Given the description of an element on the screen output the (x, y) to click on. 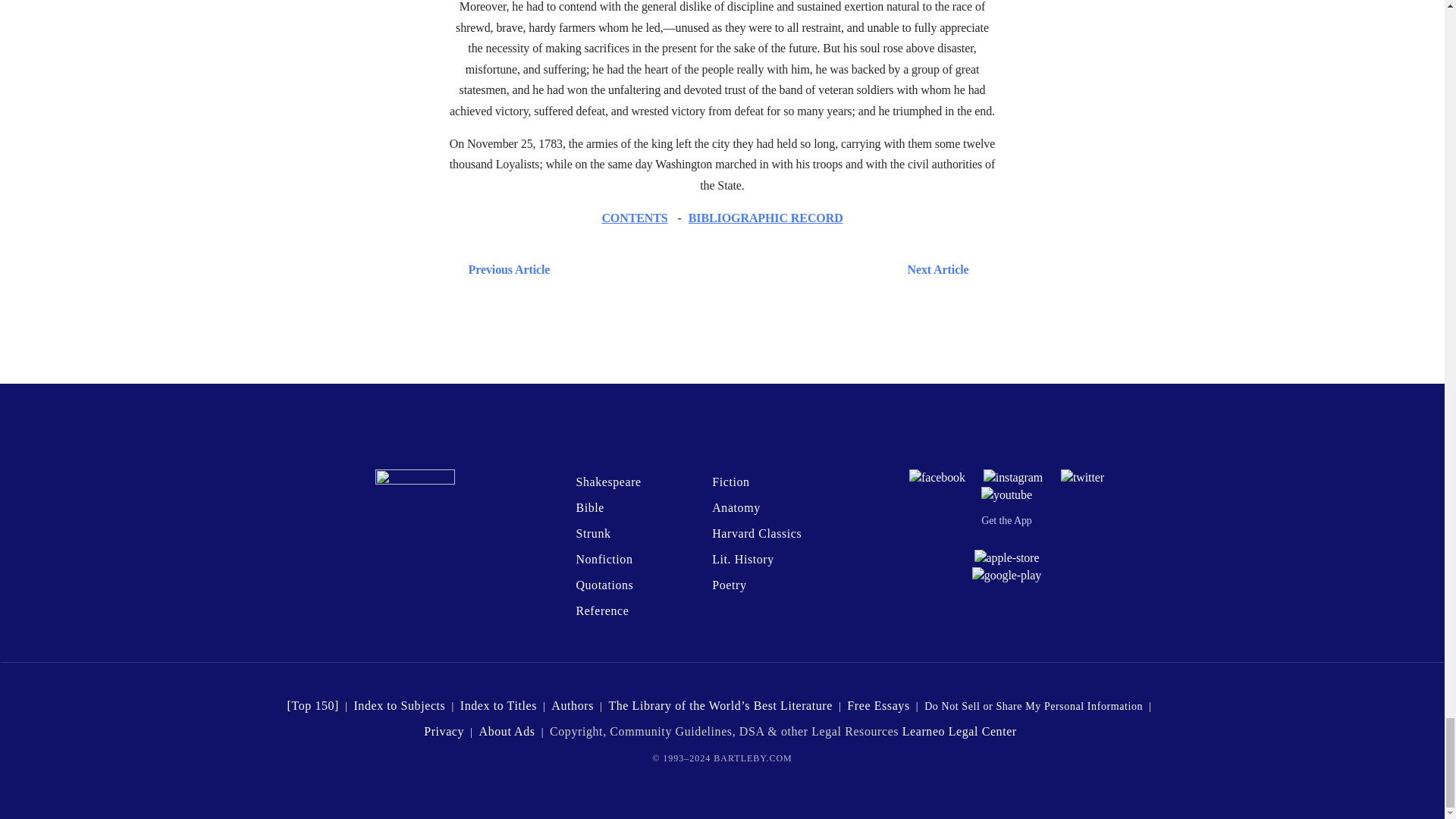
Strunk (592, 533)
BIBLIOGRAPHIC RECORD (765, 217)
Shakespeare (607, 481)
Nonfiction (603, 558)
Reference (601, 610)
Fiction (730, 481)
Poetry (728, 584)
Bible (589, 507)
CONTENTS (633, 217)
Harvard Classics (756, 533)
Next Article (766, 269)
Quotations (604, 584)
Lit. History (742, 558)
Anatomy (735, 507)
Previous Article (505, 269)
